Given the description of an element on the screen output the (x, y) to click on. 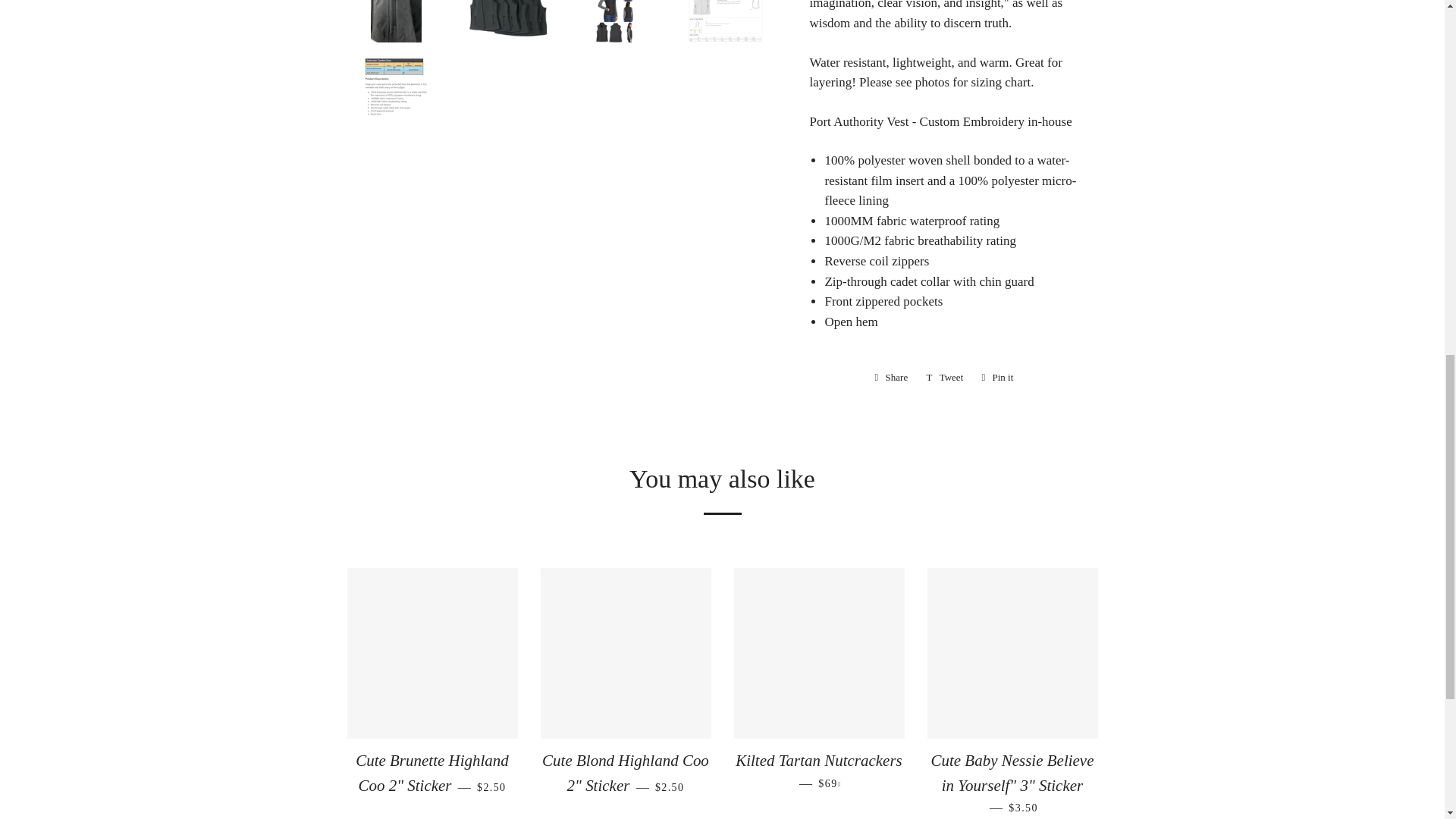
Tweet on Twitter (944, 377)
Pin on Pinterest (997, 377)
Share on Facebook (891, 377)
